Given the description of an element on the screen output the (x, y) to click on. 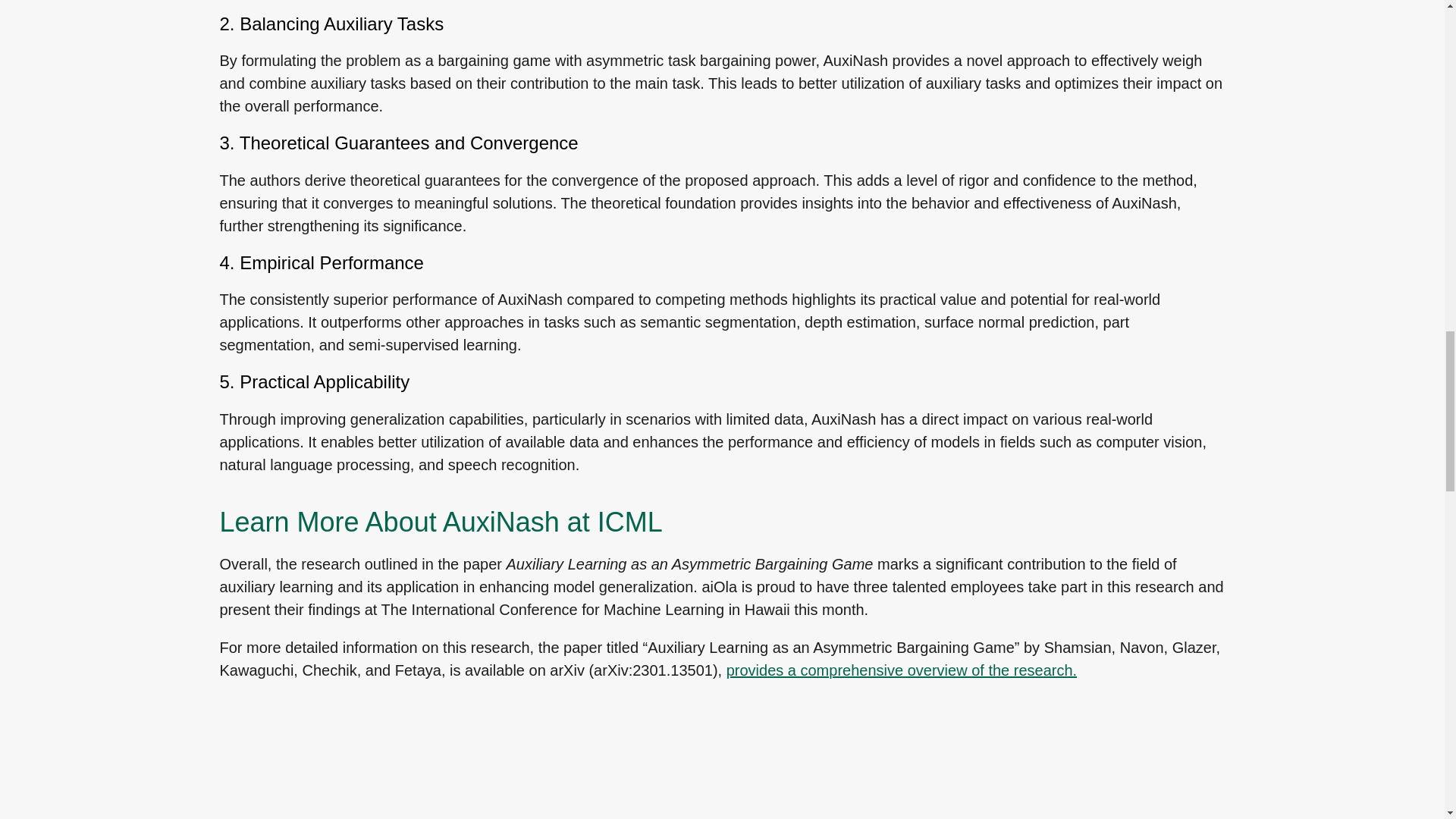
provides a comprehensive overview of the research. (901, 669)
